Given the description of an element on the screen output the (x, y) to click on. 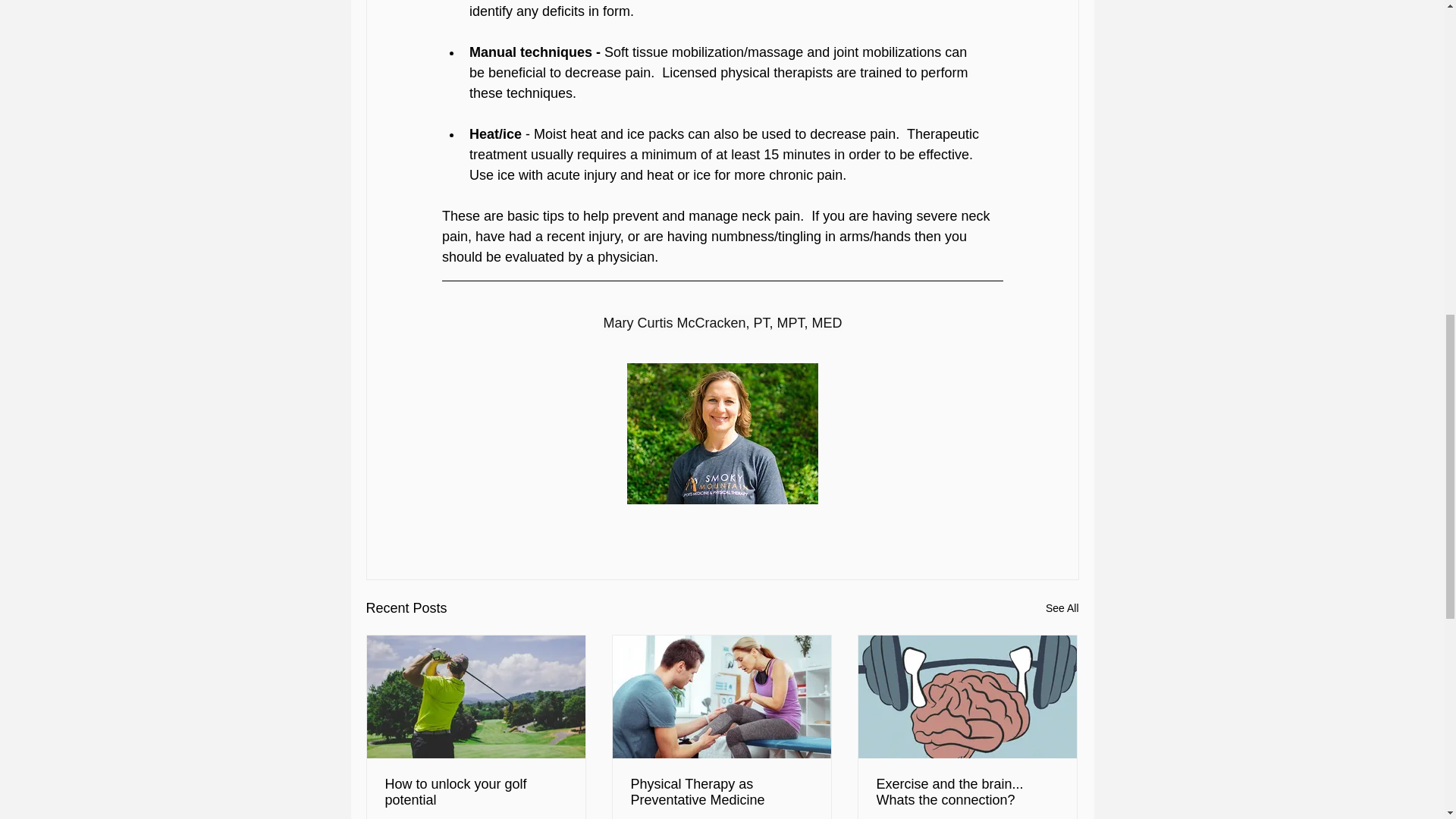
How to unlock your golf potential (476, 792)
See All (1061, 608)
Physical Therapy as Preventative Medicine (721, 792)
Exercise and the brain... Whats the connection? (967, 792)
